Given the description of an element on the screen output the (x, y) to click on. 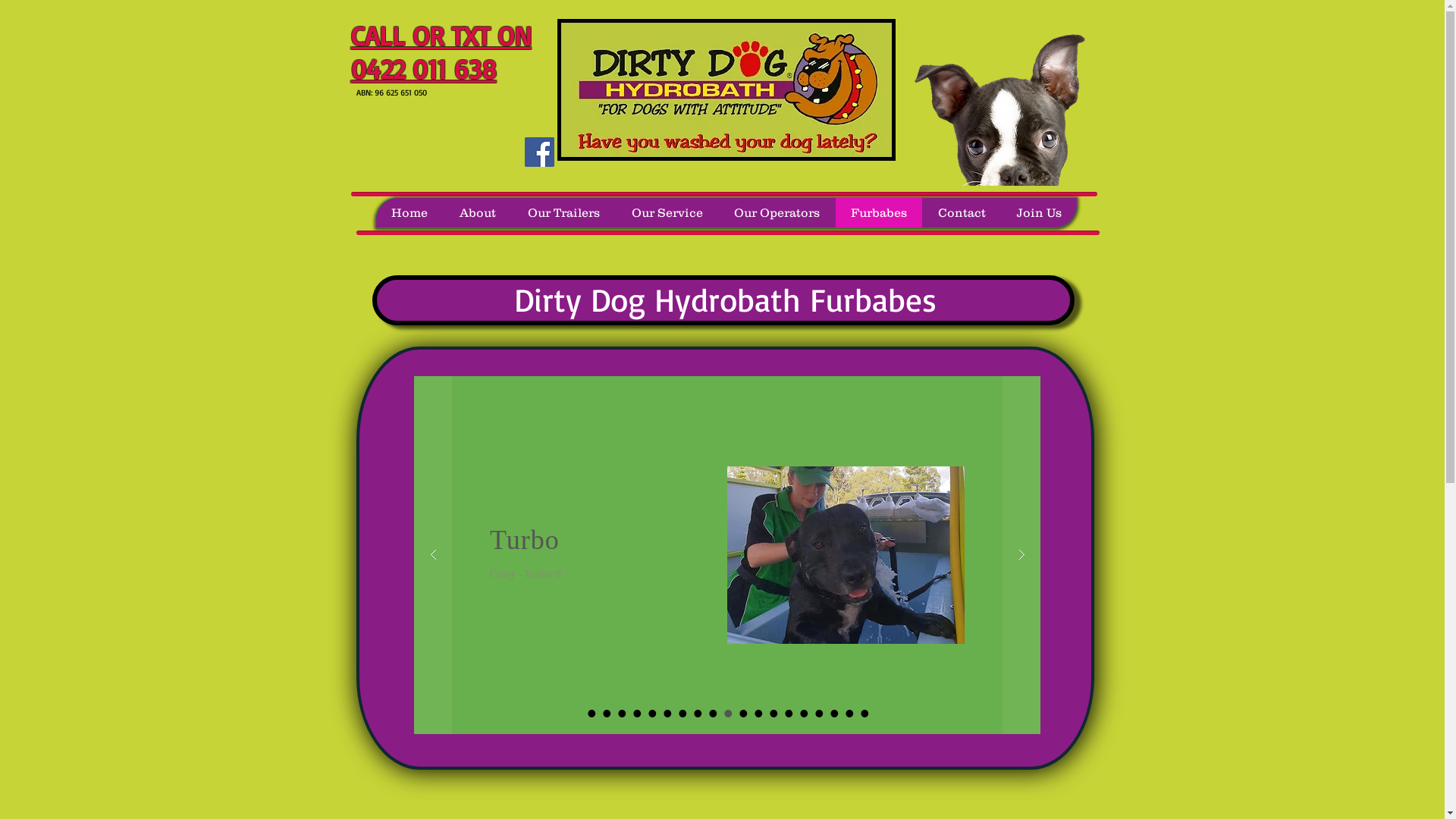
About Element type: text (476, 212)
Home Element type: text (409, 212)
CALL OR TXT ON 0422 011 638 Element type: text (440, 51)
Contact Element type: text (961, 212)
Our Operators Element type: text (775, 212)
Our Trailers Element type: text (563, 212)
0422011638 Element type: hover (725, 89)
Our Service Element type: text (666, 212)
Join Us Element type: text (1038, 212)
Furbabes Element type: text (877, 212)
